Given the description of an element on the screen output the (x, y) to click on. 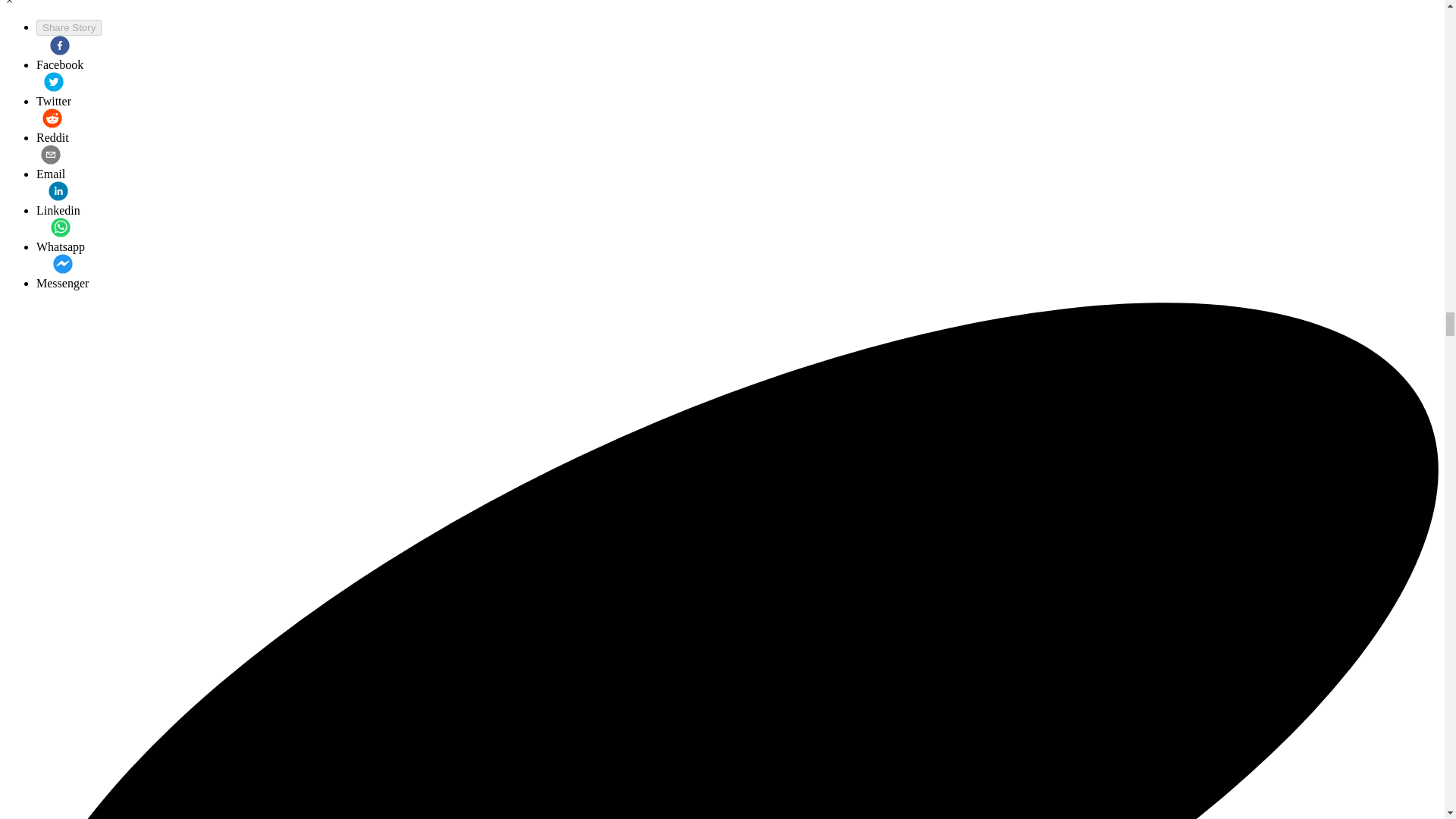
Share Story (68, 27)
How to celebrate Waitangi Day at home (62, 271)
Twitter (53, 90)
Facebook (59, 54)
